Given the description of an element on the screen output the (x, y) to click on. 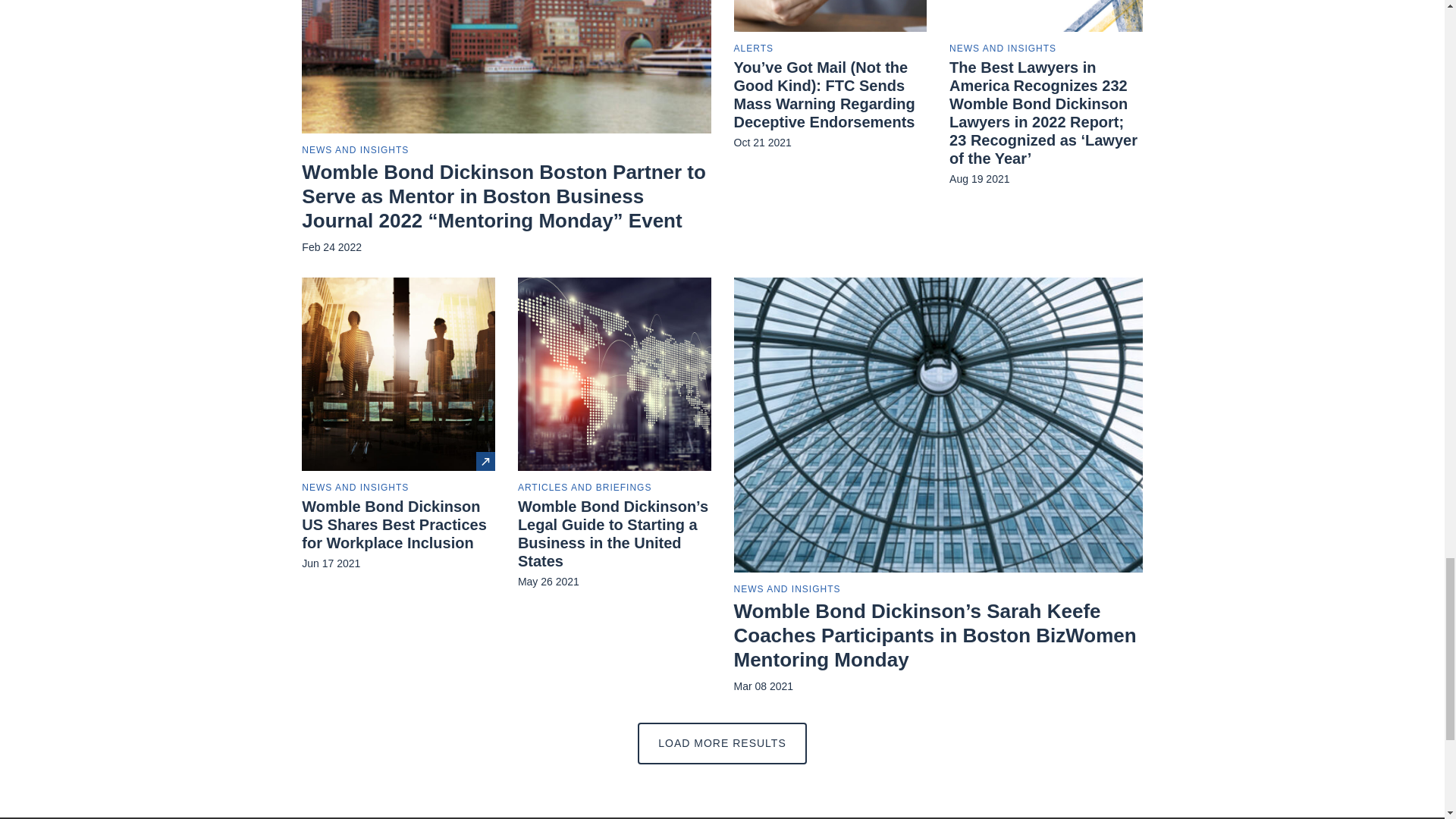
Go to next page (721, 743)
